Given the description of an element on the screen output the (x, y) to click on. 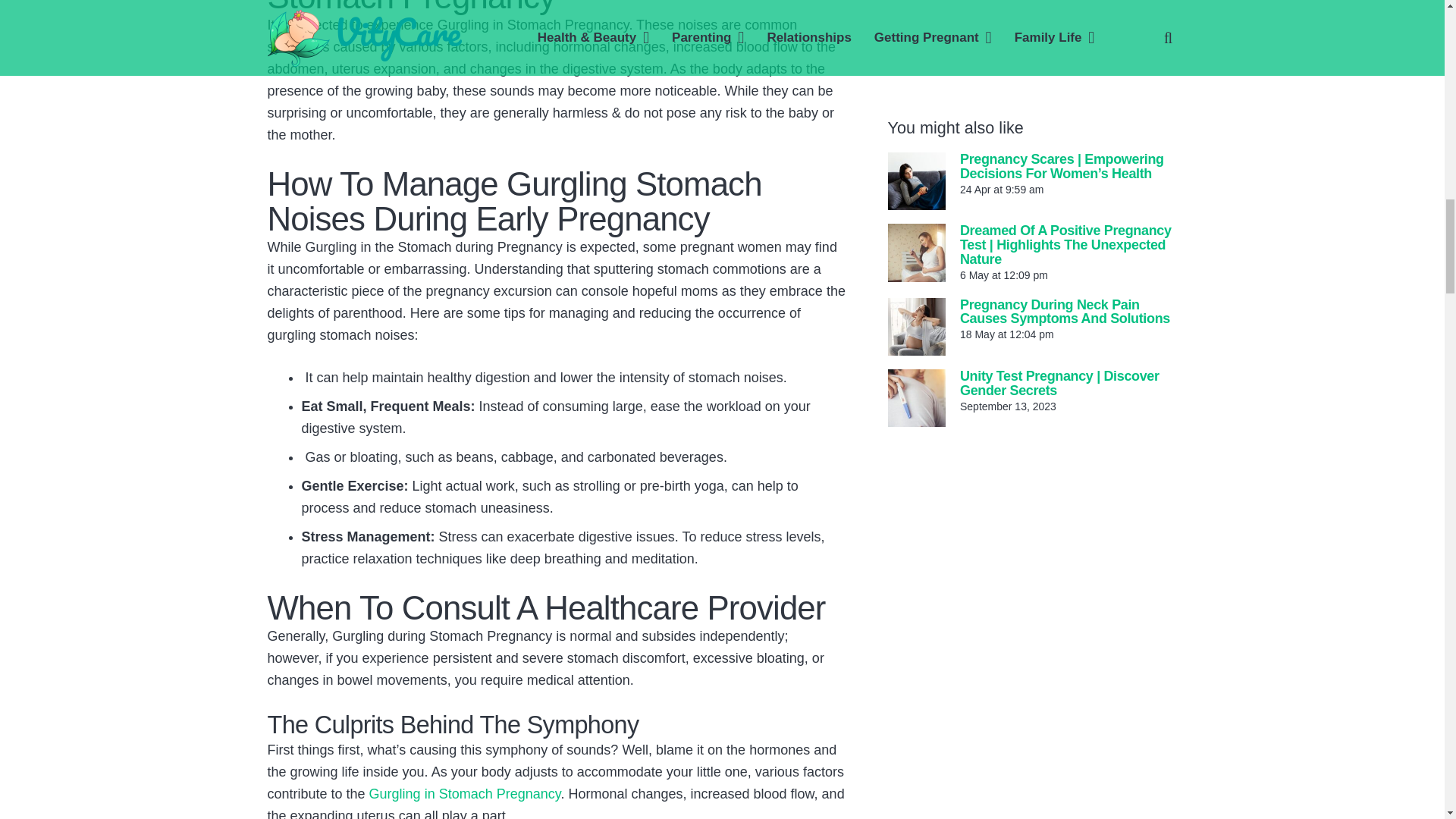
Gurgling in Stomach Pregnancy (464, 793)
